Given the description of an element on the screen output the (x, y) to click on. 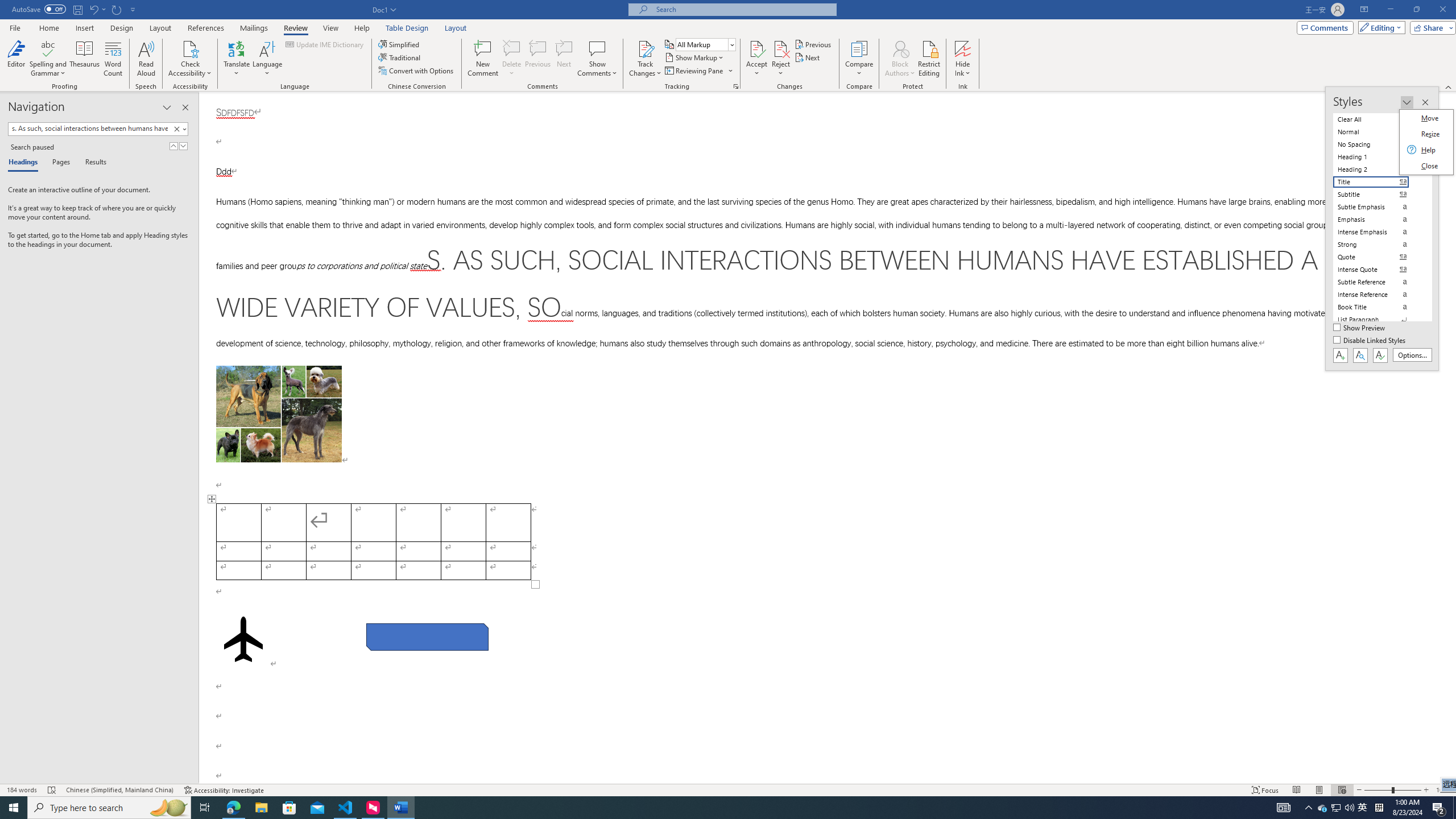
Restrict Editing (929, 58)
Clear (176, 128)
